Given the description of an element on the screen output the (x, y) to click on. 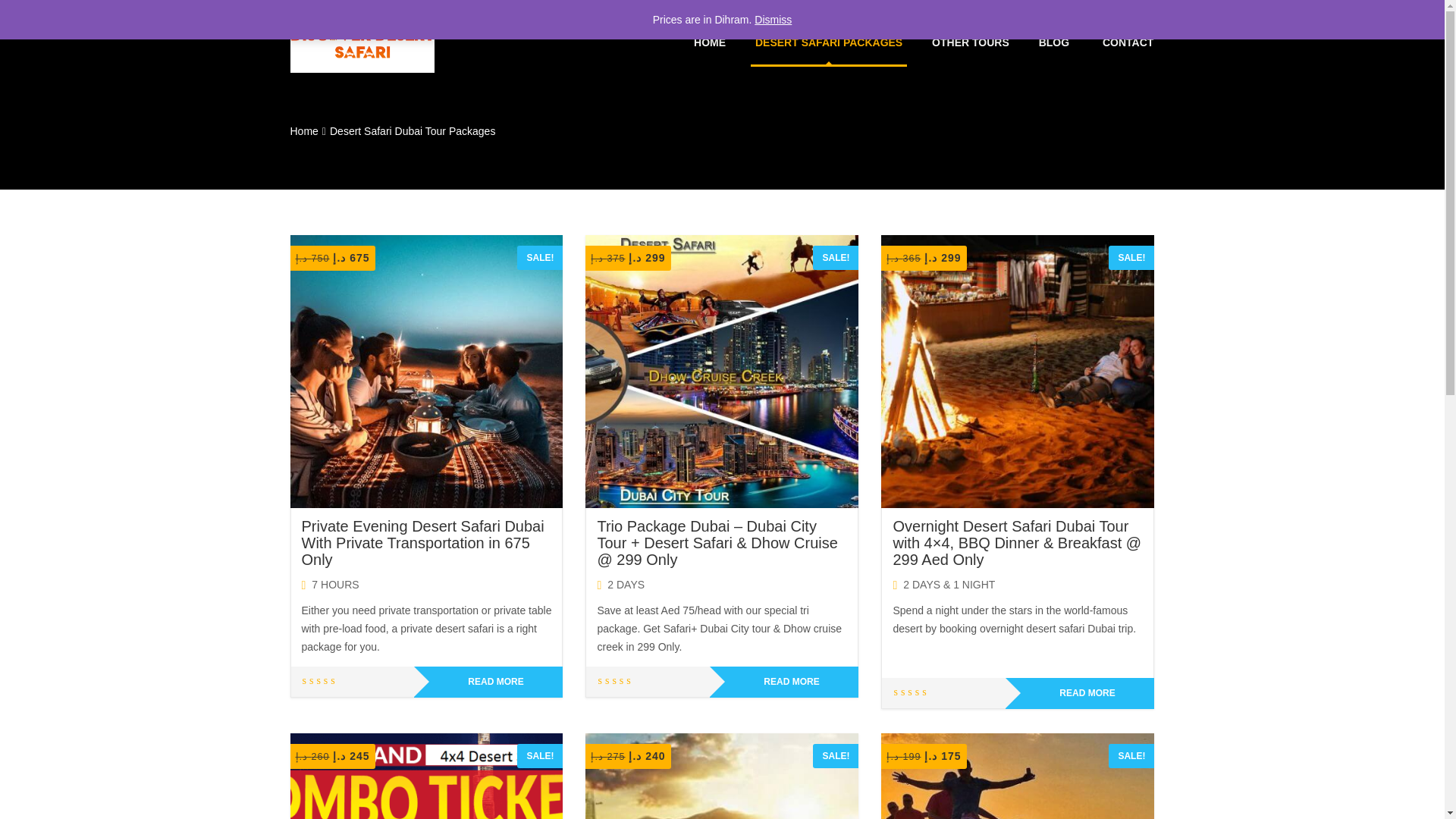
OTHER TOURS (970, 42)
Home (303, 131)
DESERT SAFARI PACKAGES (828, 42)
Dismiss (773, 19)
READ MORE (488, 681)
READ MORE (1080, 693)
READ MORE (784, 681)
 -  (361, 40)
CONTACT (1127, 42)
